Given the description of an element on the screen output the (x, y) to click on. 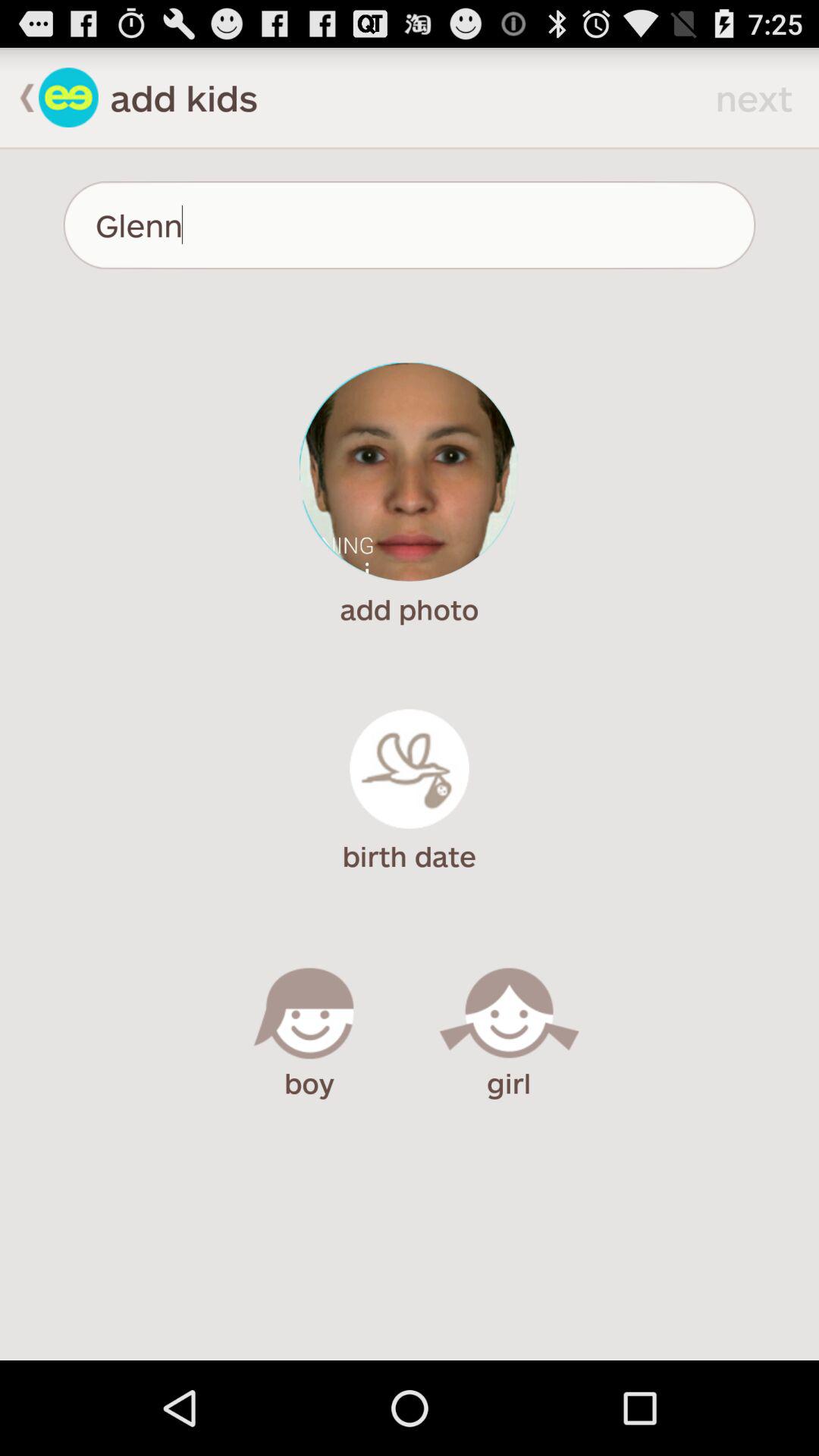
add botton (68, 97)
